Given the description of an element on the screen output the (x, y) to click on. 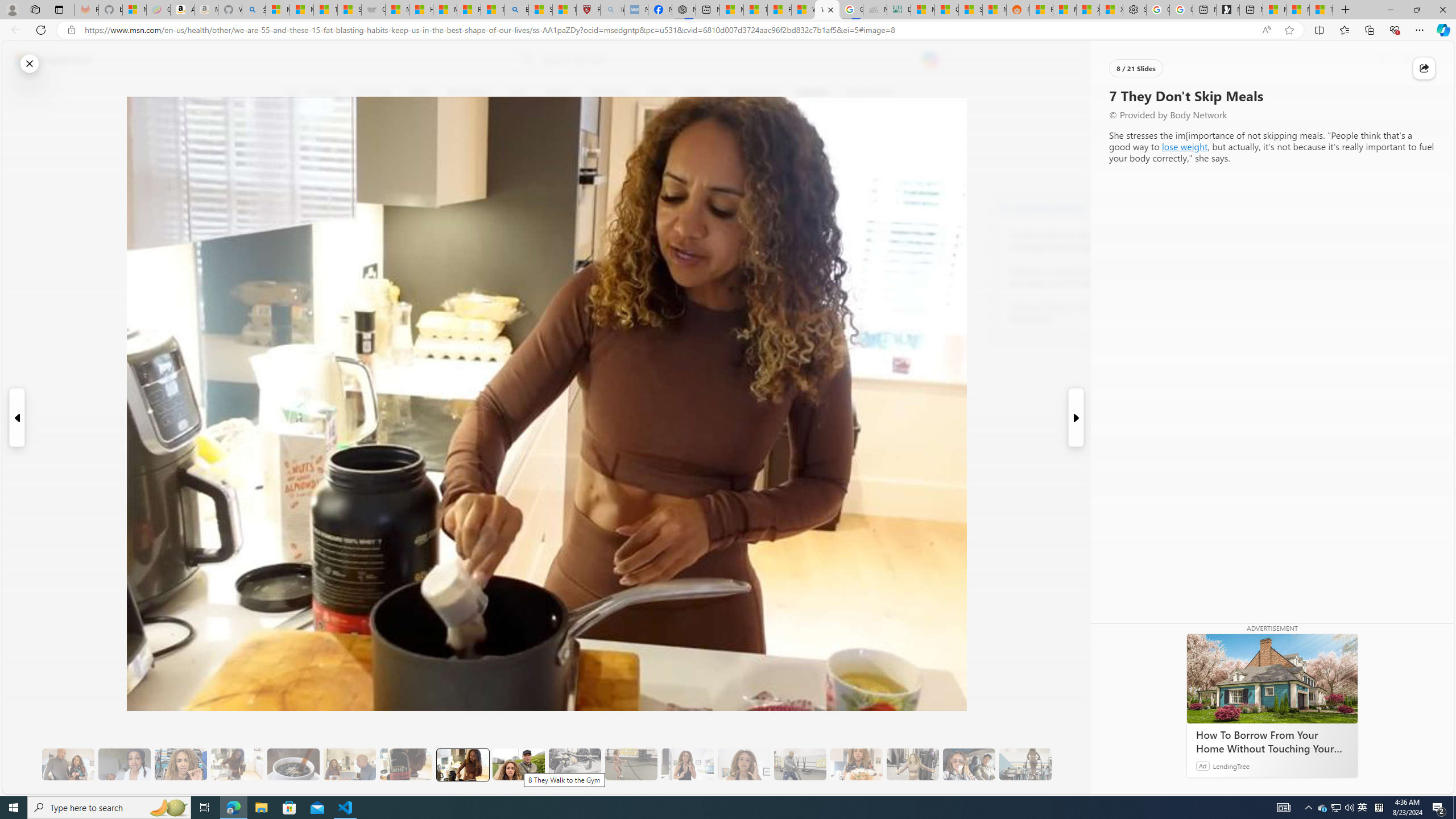
Entertainment (753, 92)
DITOGAMES AG Imprint (898, 9)
Class: at-item immersive (1423, 68)
MSN (993, 9)
Microsoft-Report a Concern to Bing (134, 9)
Food & Drink (869, 92)
LendingTree (1231, 765)
Science - MSN (540, 9)
How To Borrow From Your Home Without Touching Your Mortgage (1271, 741)
6 Since Eating More Protein Her Training Has Improved (406, 764)
Enter your search term (730, 59)
Food & Drink (865, 92)
